Given the description of an element on the screen output the (x, y) to click on. 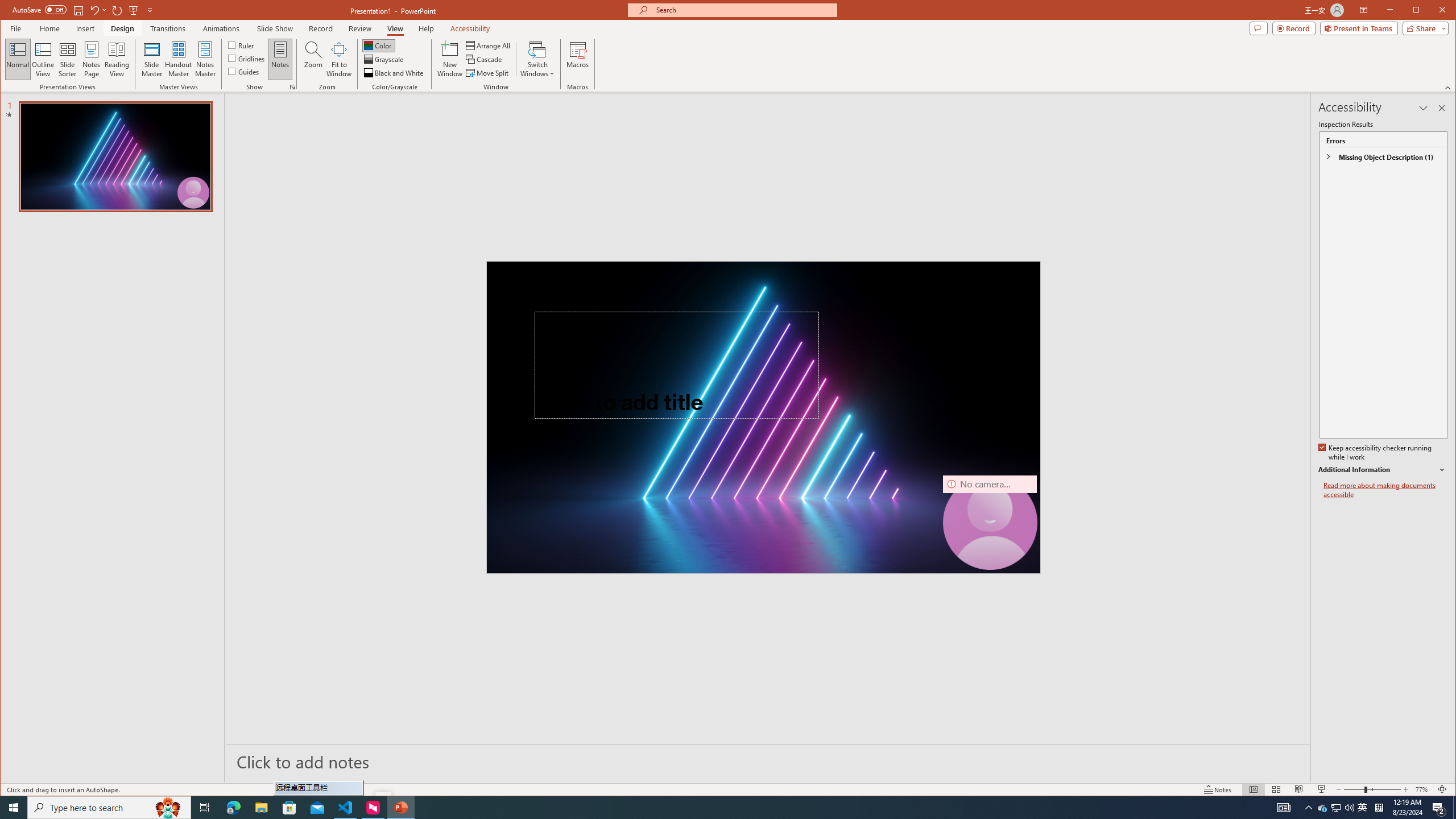
Maximize (1432, 11)
Move Split (488, 72)
Arrange All (488, 45)
